Given the description of an element on the screen output the (x, y) to click on. 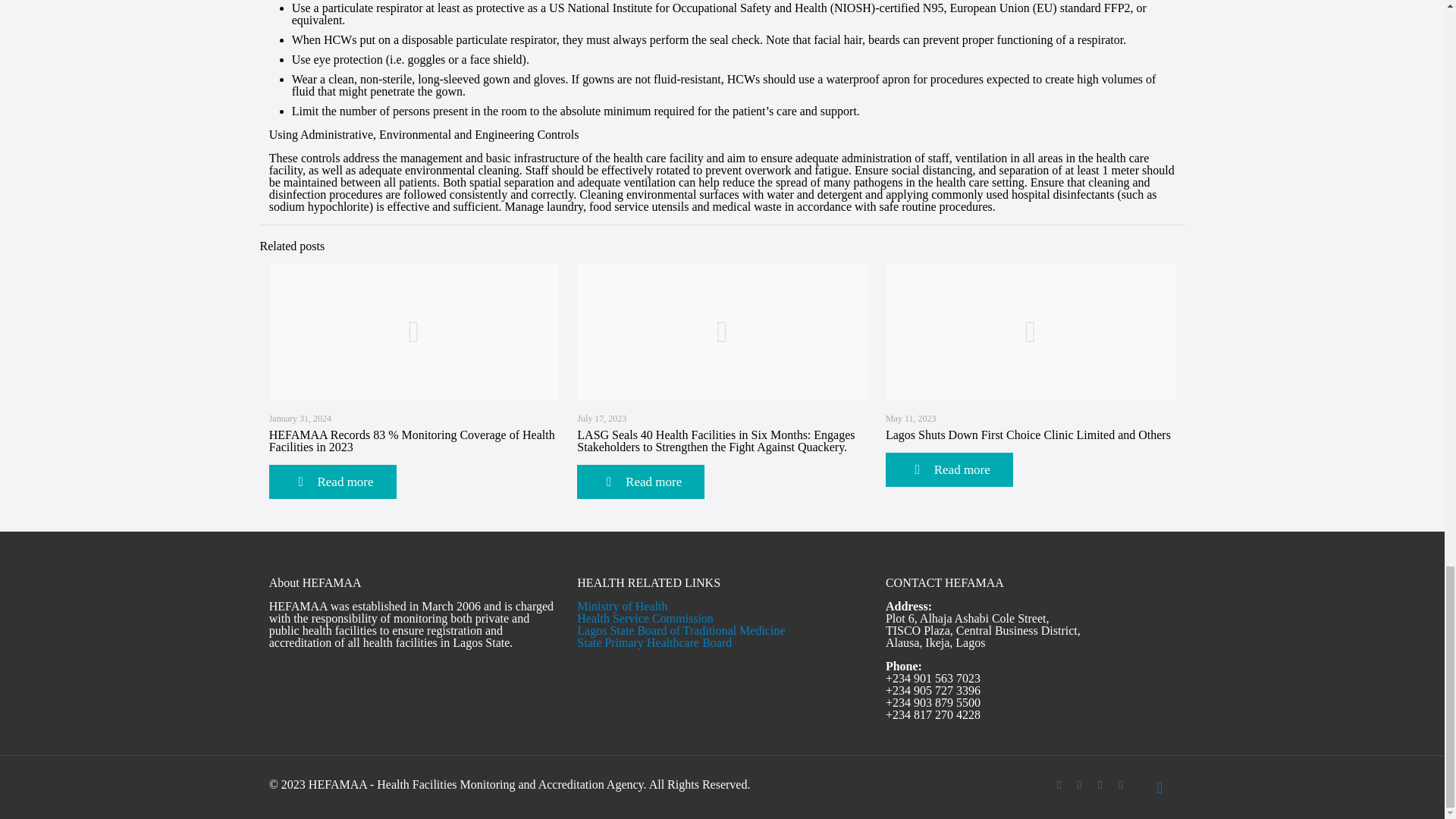
LinkedIn (1100, 784)
Facebook (1059, 784)
Twitter (1079, 784)
Instagram (1120, 784)
Read more (949, 469)
Lagos Shuts Down First Choice Clinic Limited and Others (1027, 434)
Health Service Commission (644, 617)
Read more (640, 481)
Read more (332, 481)
